Given the description of an element on the screen output the (x, y) to click on. 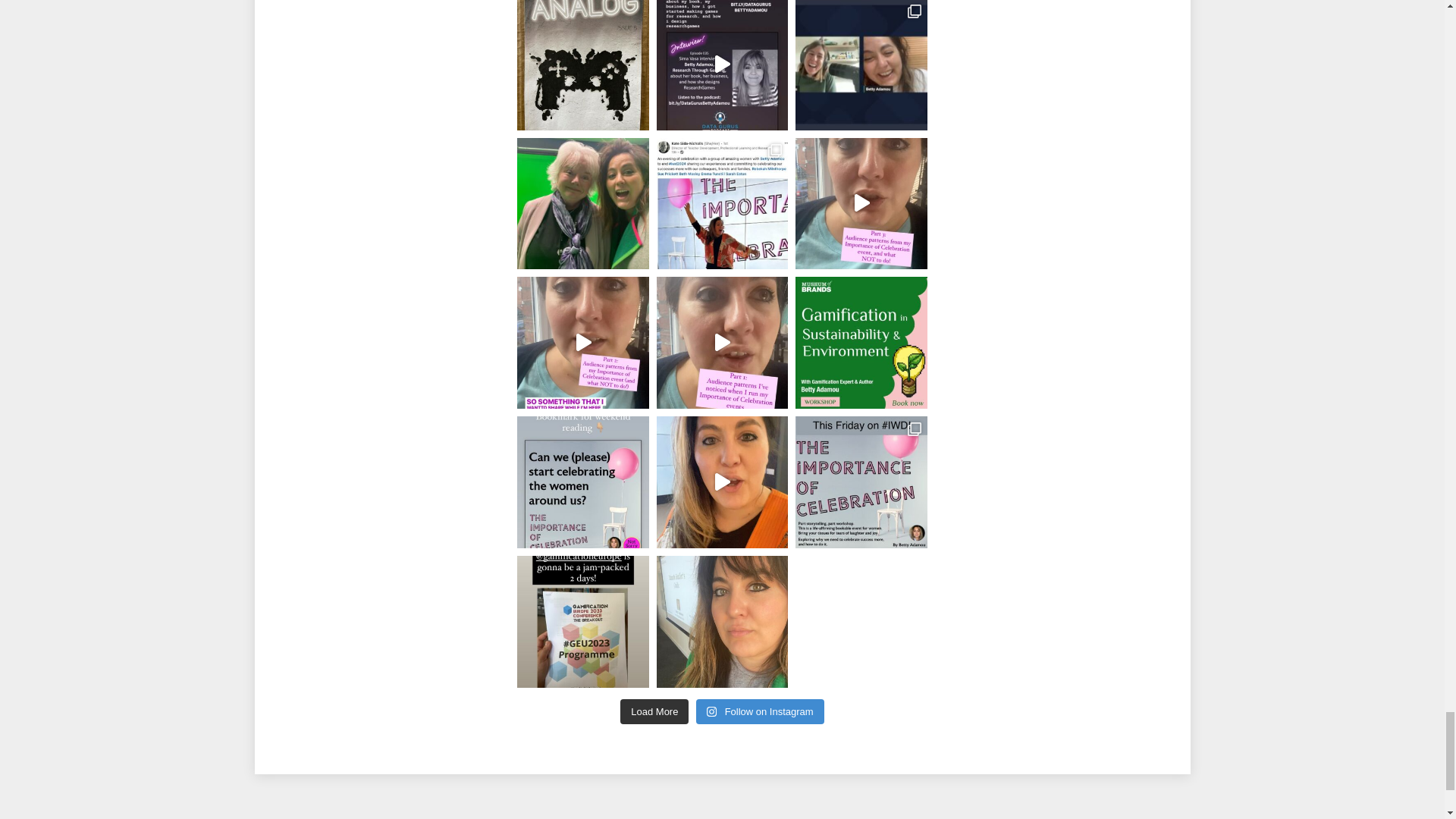
Betty Adamou (721, 816)
